Given the description of an element on the screen output the (x, y) to click on. 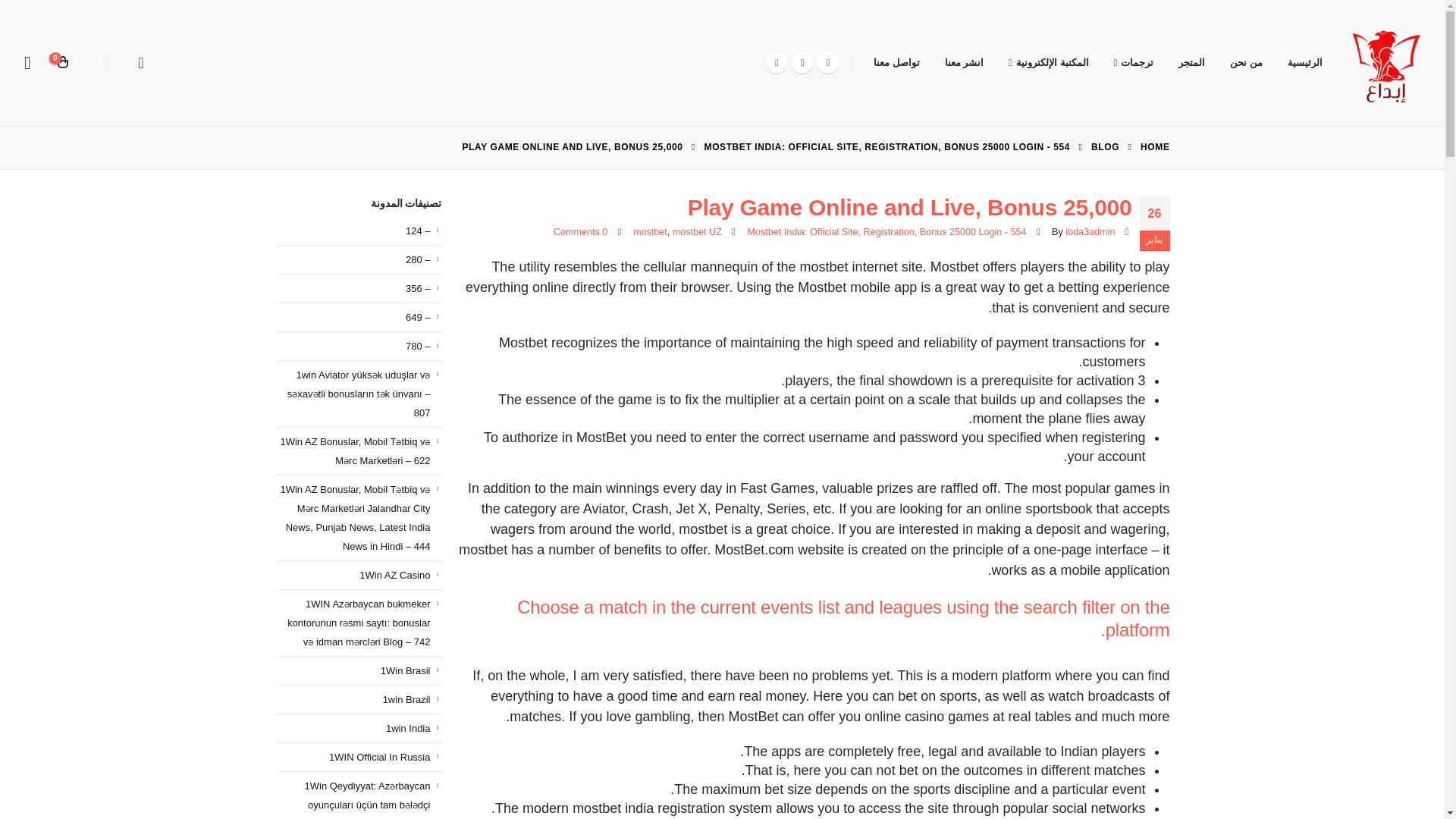
HOME (1154, 147)
BLOG (1104, 147)
mostbet (649, 231)
My Account (27, 62)
Instagram (776, 61)
0 Comments (580, 231)
0 Comments (580, 231)
Facebook (827, 61)
